Given the description of an element on the screen output the (x, y) to click on. 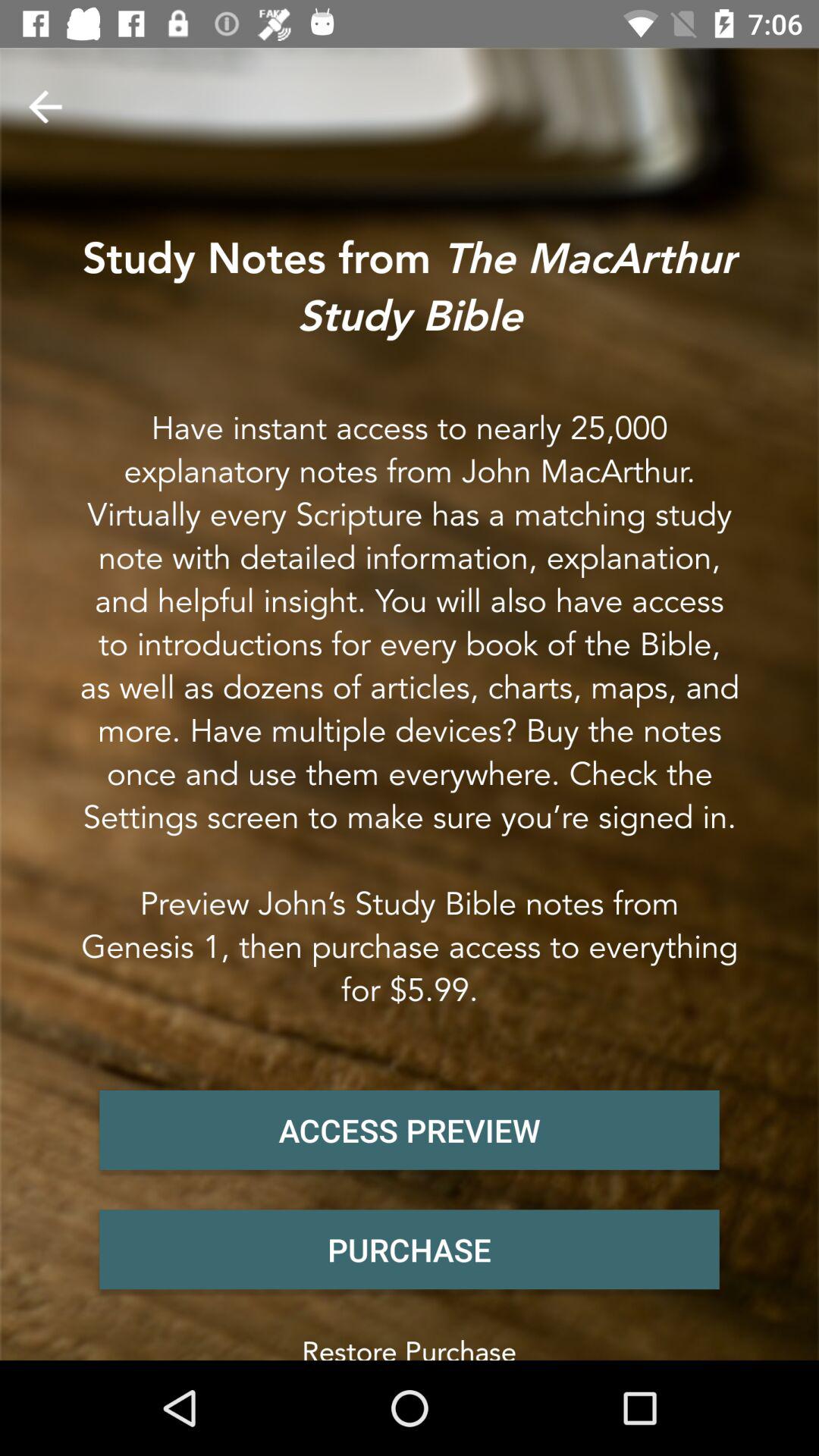
flip to access preview (409, 1129)
